Given the description of an element on the screen output the (x, y) to click on. 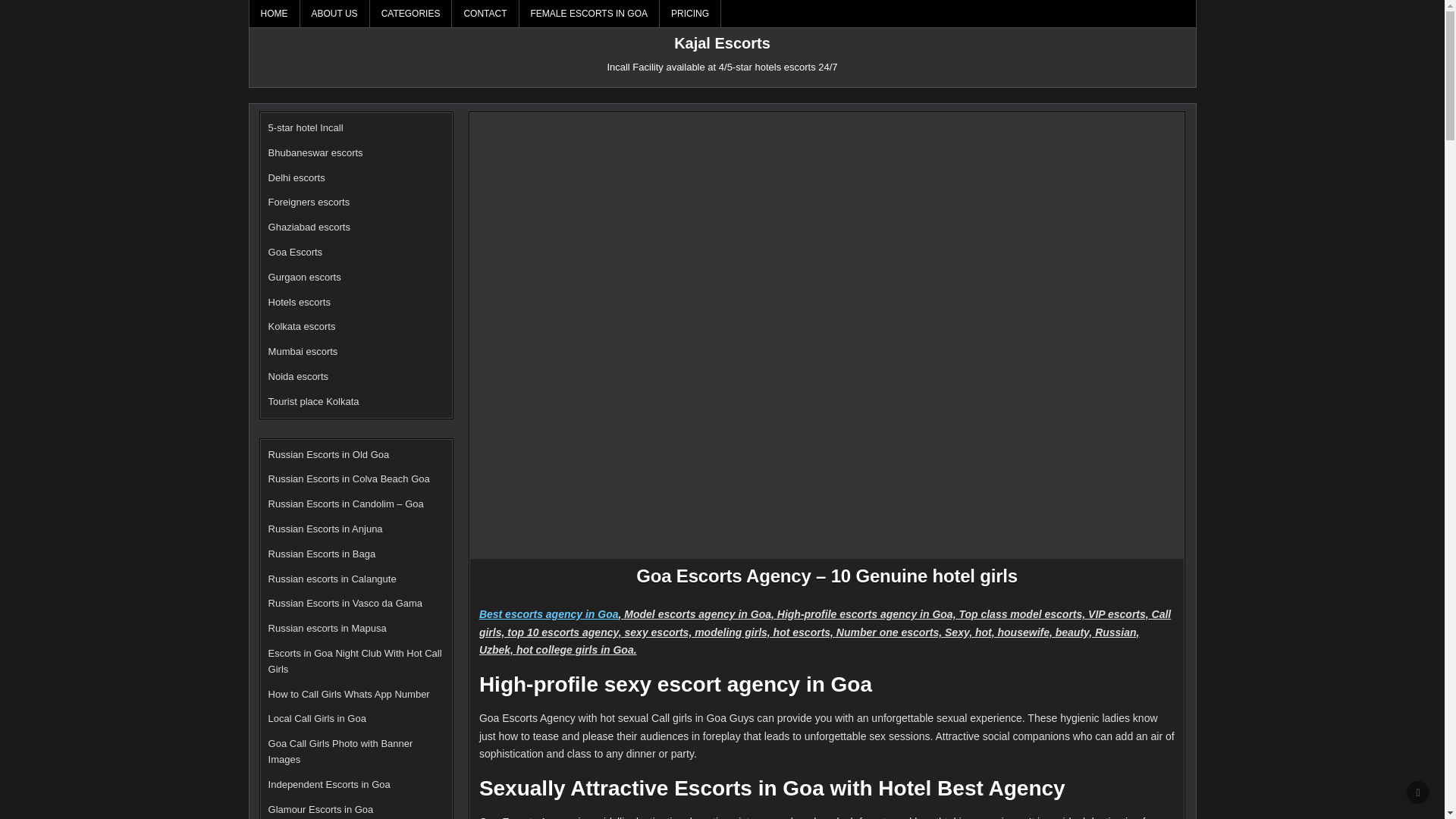
Gurgaon escorts (303, 276)
Russian Escorts in Vasco da Gama (345, 603)
Russian Escorts in Baga (321, 553)
Bhubaneswar escorts (314, 152)
SCROLL TO TOP (1417, 792)
Noida escorts (298, 376)
HOME (273, 13)
5-star hotel Incall (305, 127)
CATEGORIES (410, 13)
Kolkata escorts (301, 326)
Best escorts agency in Goa (548, 613)
Hotels escorts (298, 301)
Russian Escorts in Old Goa (328, 454)
CONTACT (484, 13)
Kajal Escorts (722, 43)
